Given the description of an element on the screen output the (x, y) to click on. 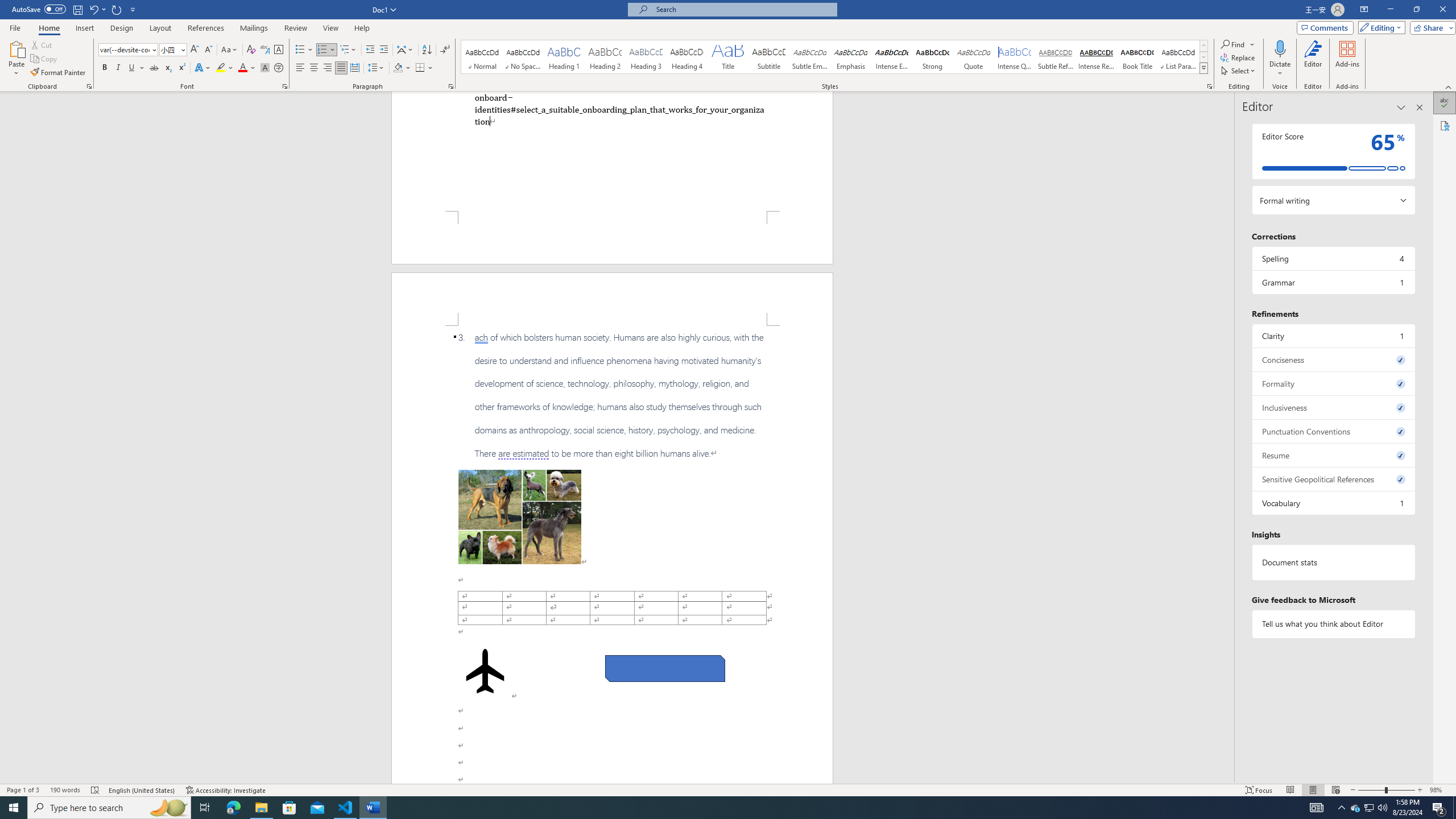
Heading 3 (646, 56)
Font Color Automatic (241, 67)
Emphasis (849, 56)
Strong (932, 56)
Spelling, 4 issues. Press space or enter to review items. (1333, 258)
Repeat Style (117, 9)
Heading 4 (686, 56)
